Given the description of an element on the screen output the (x, y) to click on. 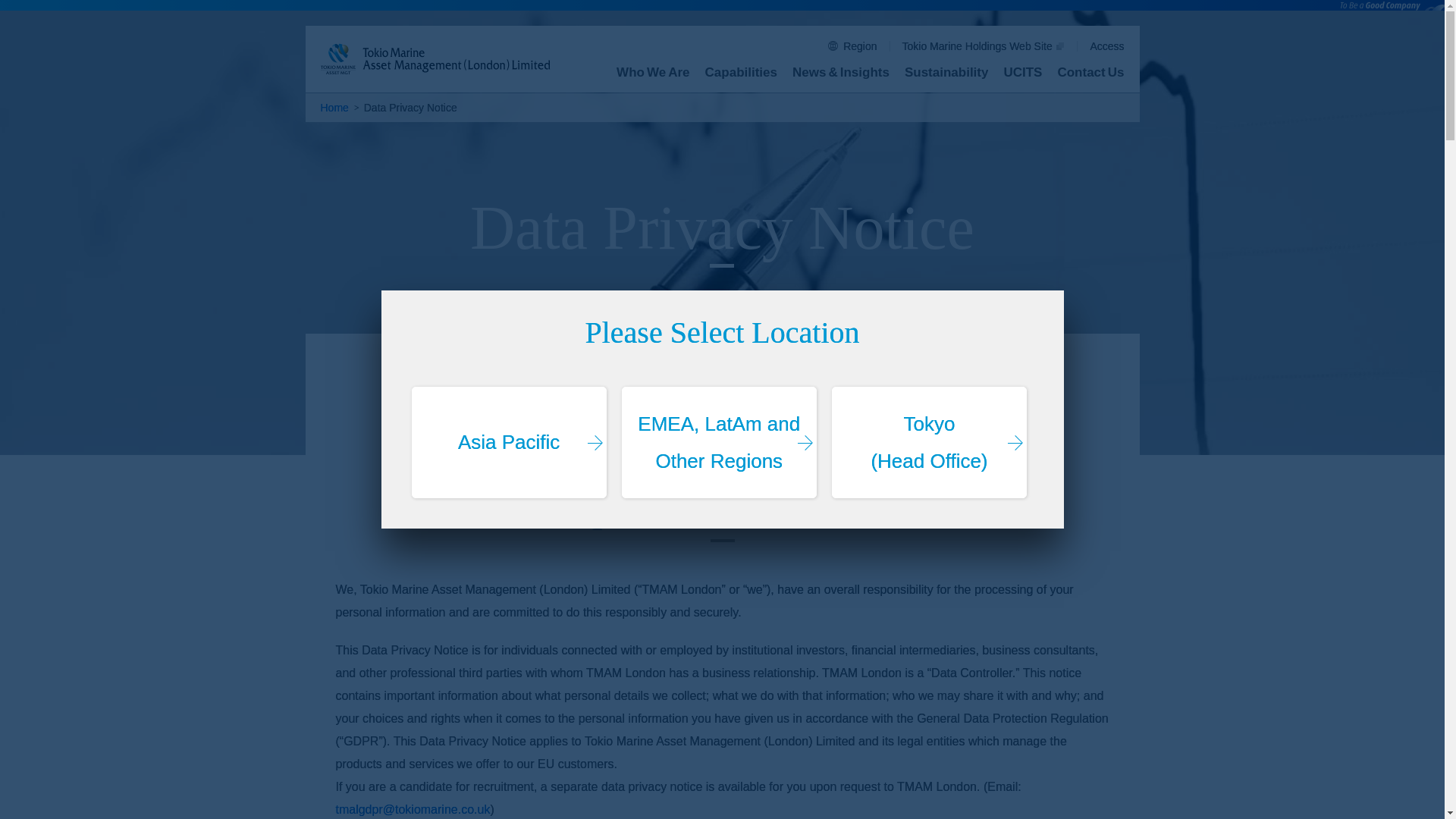
Access (1106, 46)
Home (334, 107)
Contact Us (1090, 76)
Tokio Marine Holdings Web Site (984, 46)
Who We Are (651, 76)
Sustainability (946, 76)
Asia Pacific (507, 442)
UCITS (1022, 76)
Environment Social Governance (946, 72)
Region (852, 46)
